Given the description of an element on the screen output the (x, y) to click on. 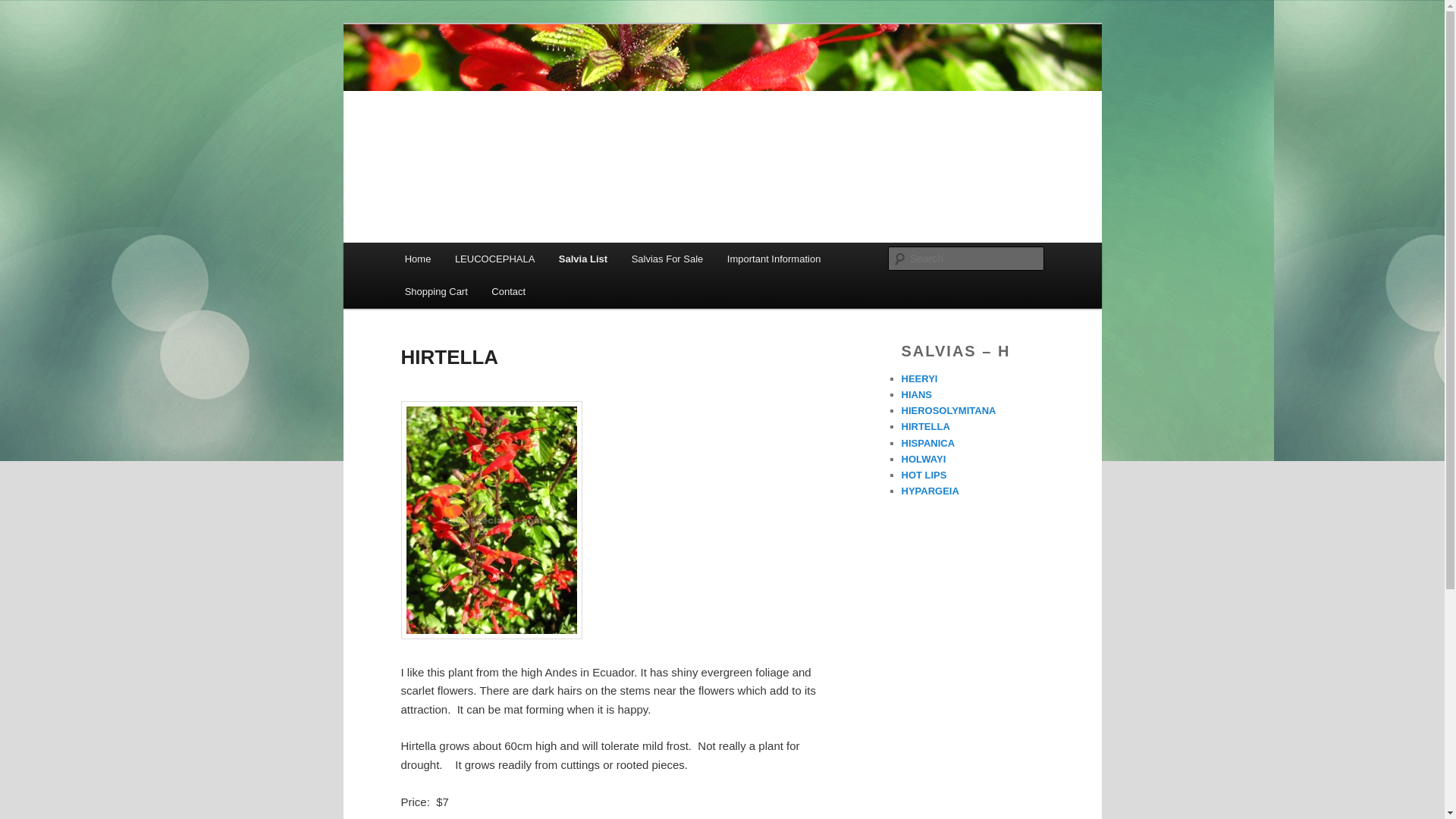
Unlimited Perennials (513, 78)
Unlimited Perennials (513, 78)
Home (417, 258)
Skip to secondary content (479, 261)
Skip to primary content (472, 261)
Salvia List (583, 258)
Skip to primary content (472, 261)
Search (24, 8)
Skip to secondary content (479, 261)
LEUCOCEPHALA (494, 258)
